Given the description of an element on the screen output the (x, y) to click on. 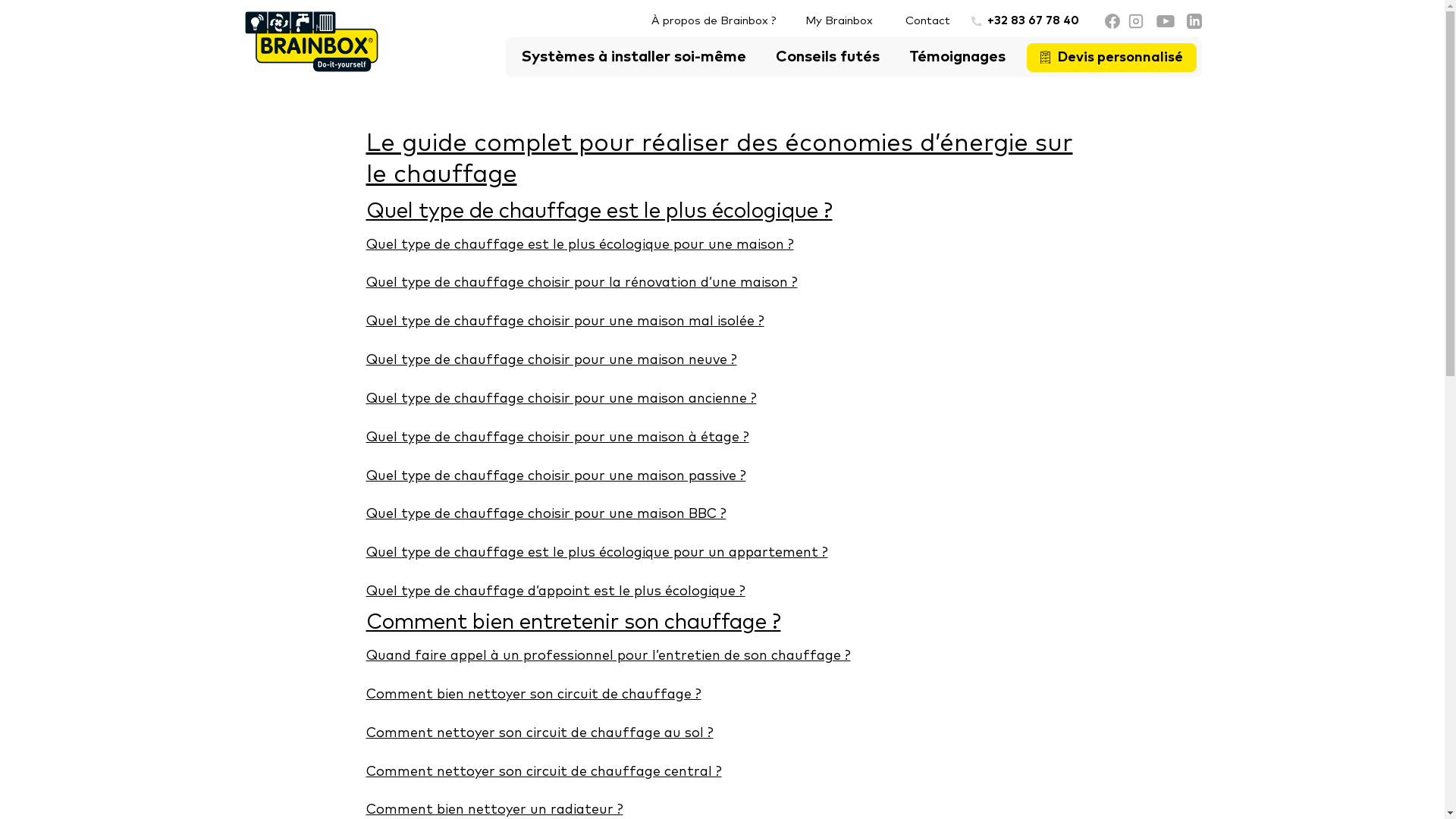
Comment nettoyer son circuit de chauffage au sol ? Element type: text (538, 733)
Comment bien nettoyer son circuit de chauffage ? Element type: text (532, 694)
Logo Brainbox Element type: text (310, 41)
+32 83 67 78 40 Element type: text (1024, 21)
Comment nettoyer son circuit de chauffage central ? Element type: text (543, 771)
Contact Element type: text (927, 21)
Comment bien nettoyer un radiateur ? Element type: text (493, 809)
Quel type de chauffage choisir pour une maison BBC ? Element type: text (545, 513)
Youtube Element type: text (1164, 20)
Quel type de chauffage choisir pour une maison neuve ? Element type: text (550, 360)
My Brainbox Element type: text (844, 21)
Quel type de chauffage choisir pour une maison passive ? Element type: text (555, 476)
Comment bien entretenir son chauffage ? Element type: text (572, 622)
Linkedin Element type: text (1193, 20)
Instagram Element type: text (1134, 20)
Quel type de chauffage choisir pour une maison ancienne ? Element type: text (560, 398)
Facebook Element type: text (1111, 20)
